Given the description of an element on the screen output the (x, y) to click on. 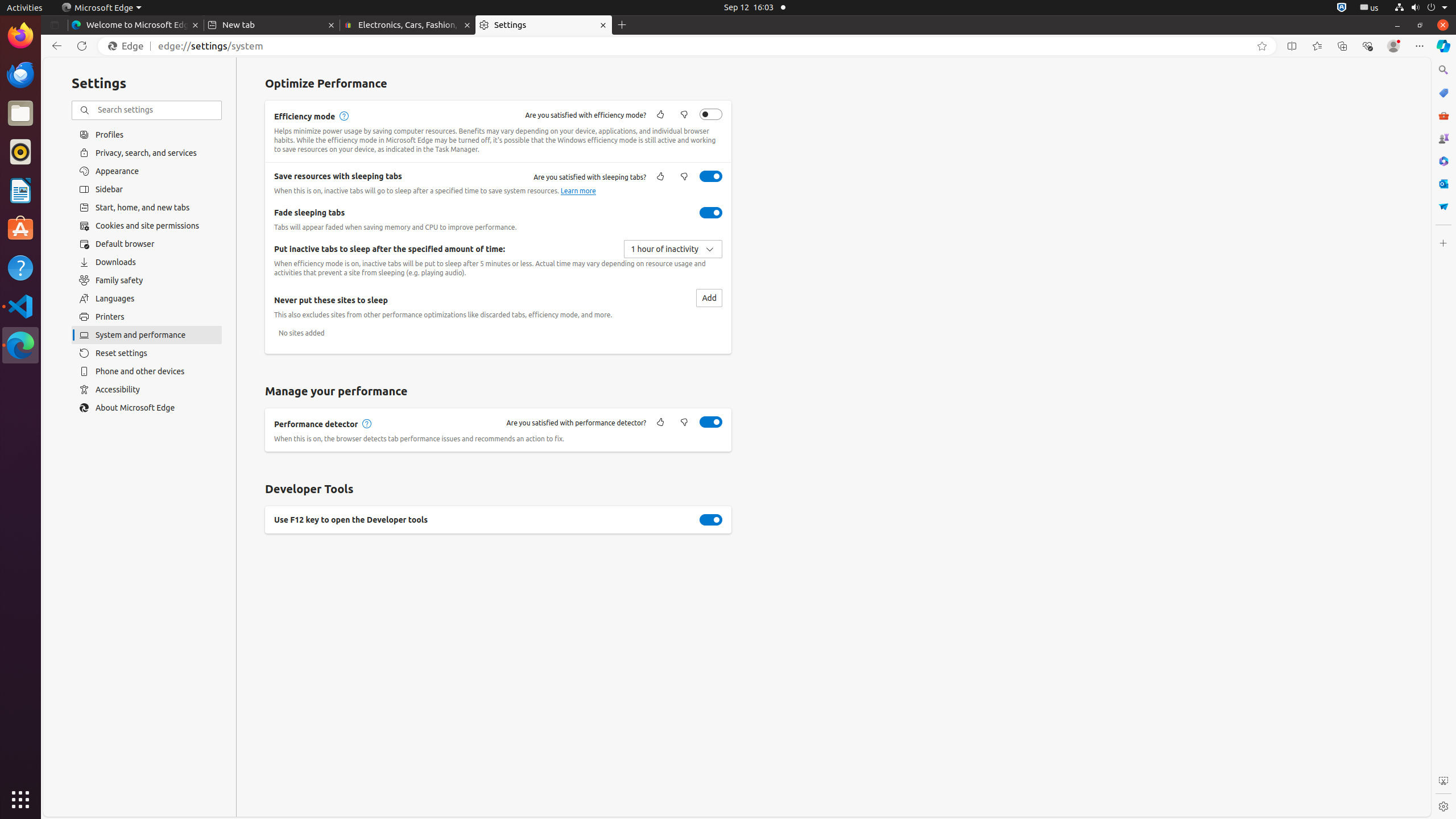
Browser essentials Element type: push-button (1366, 45)
Microsoft 365 Element type: push-button (1443, 160)
Rhythmbox Element type: push-button (20, 151)
Back Element type: push-button (54, 45)
Settings and more (Alt+F) Element type: push-button (1419, 45)
